Given the description of an element on the screen output the (x, y) to click on. 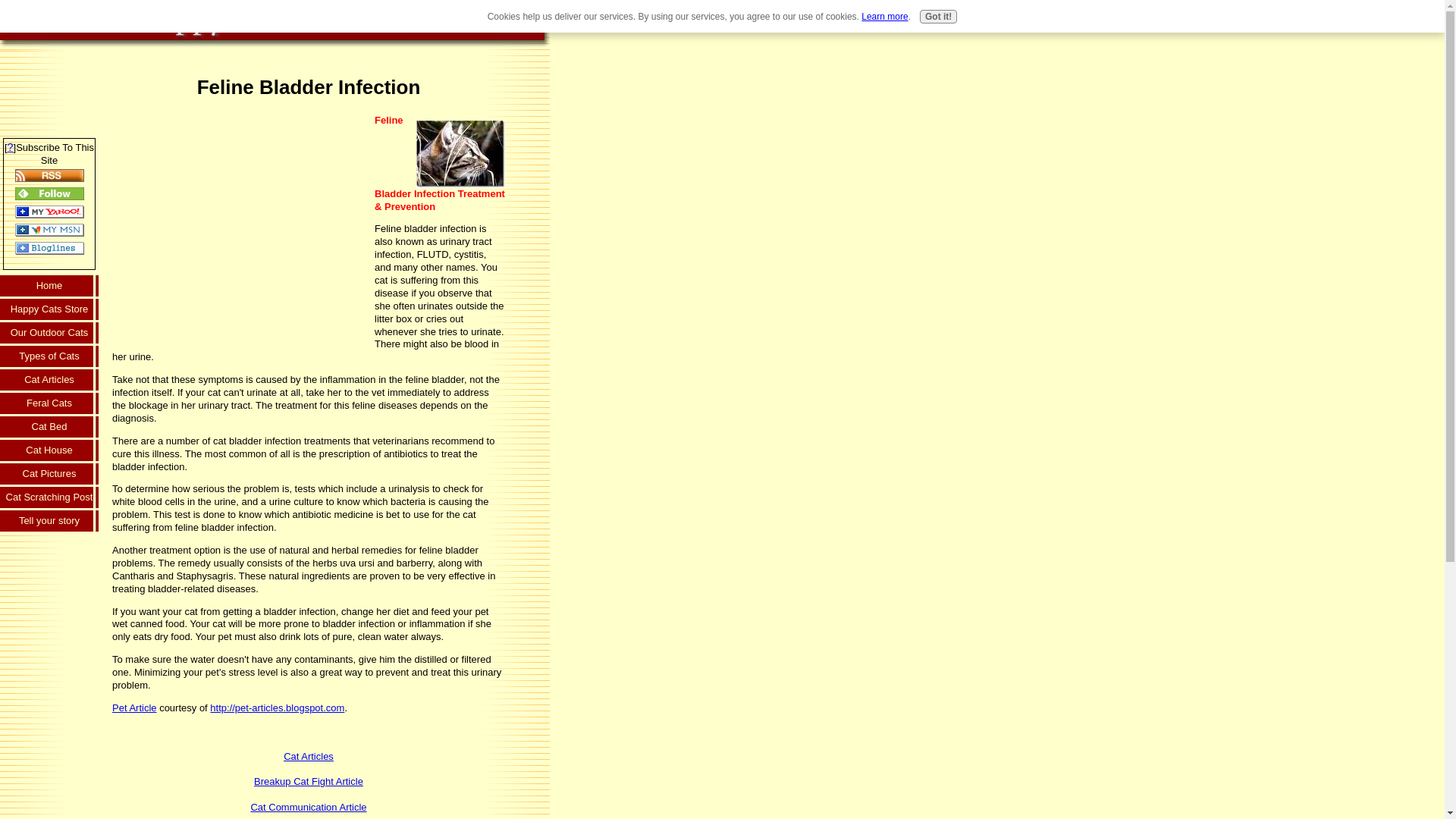
Learn more (884, 16)
Tell your story (49, 521)
Breakup Cat Fight Article (307, 781)
Pet Article (134, 707)
Home (49, 286)
Cat House (49, 451)
Types of Cats (49, 357)
Cat Communication Article (308, 807)
Cat Pictures (49, 474)
Our Outdoor Cats (49, 333)
Advertisement (48, 84)
Cat Bed (49, 427)
Cat Articles (308, 756)
Breakup Cat Fight Article (307, 781)
Happy Cats Store (49, 310)
